Given the description of an element on the screen output the (x, y) to click on. 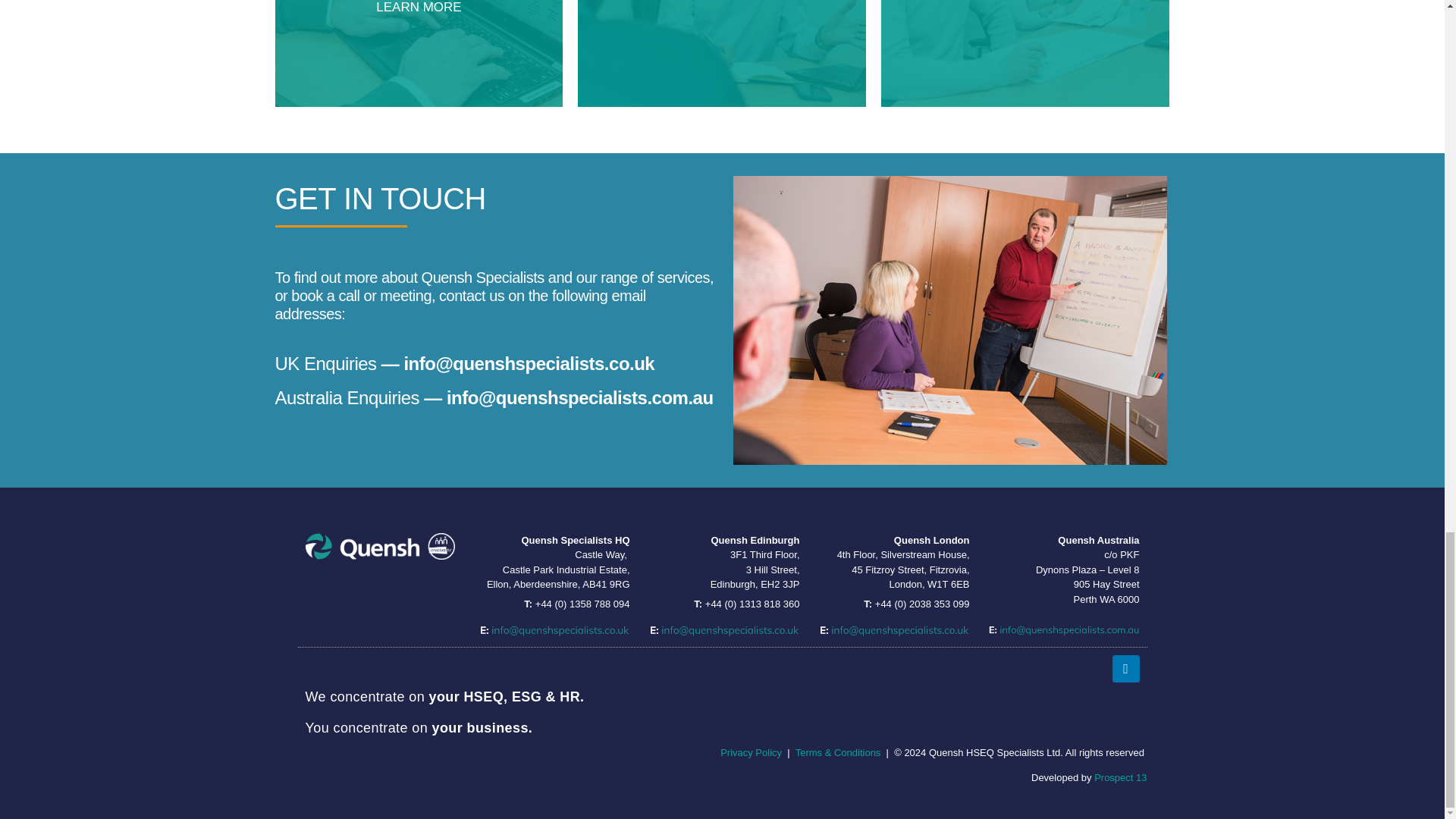
Privacy Policy (1024, 53)
Prospect 13 (750, 752)
